Given the description of an element on the screen output the (x, y) to click on. 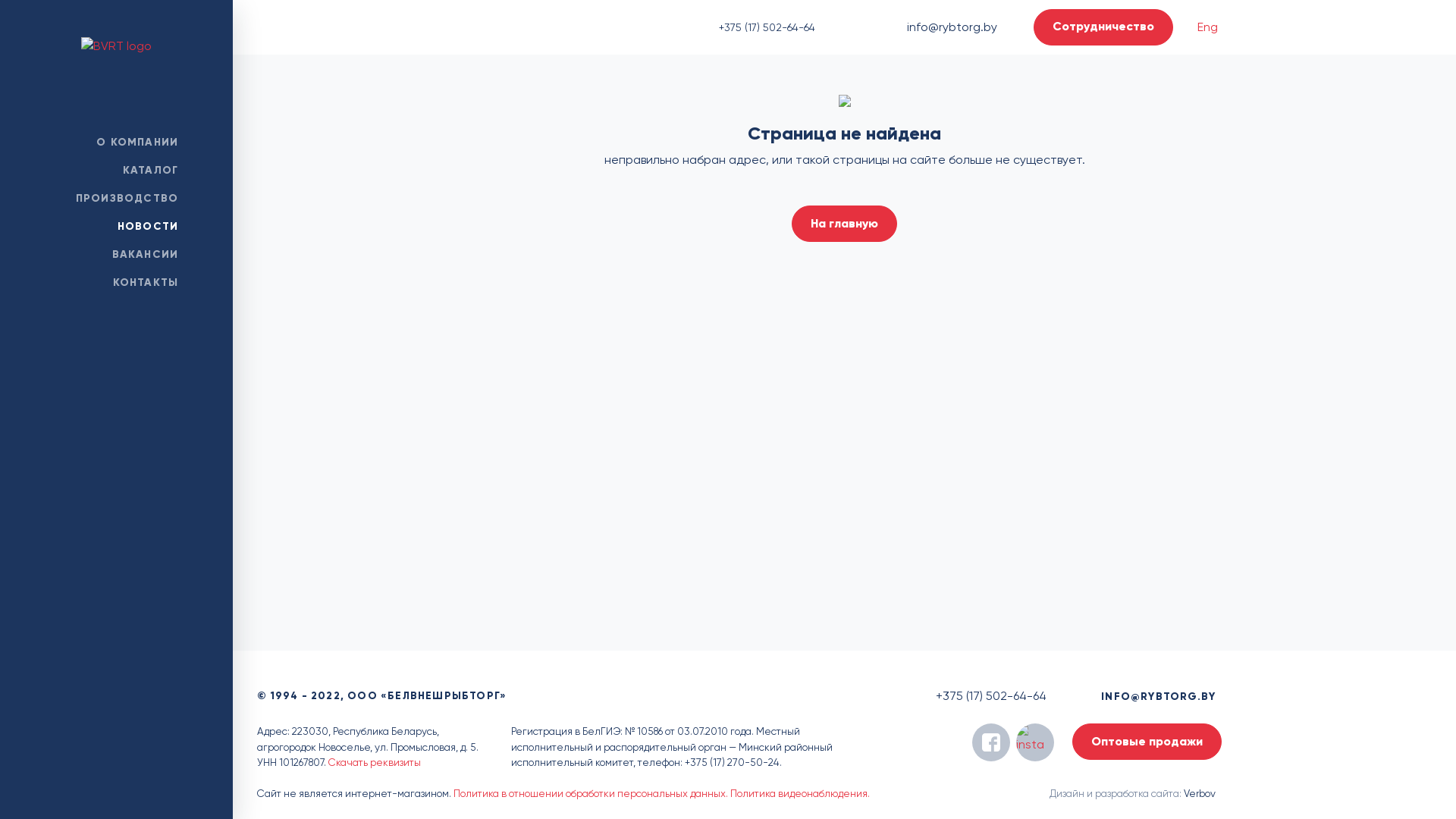
INFO@RYBTORG.BY Element type: text (1158, 696)
Eng Element type: text (1207, 26)
Verbov Element type: text (1199, 793)
info@rybtorg.by Element type: text (951, 26)
